Given the description of an element on the screen output the (x, y) to click on. 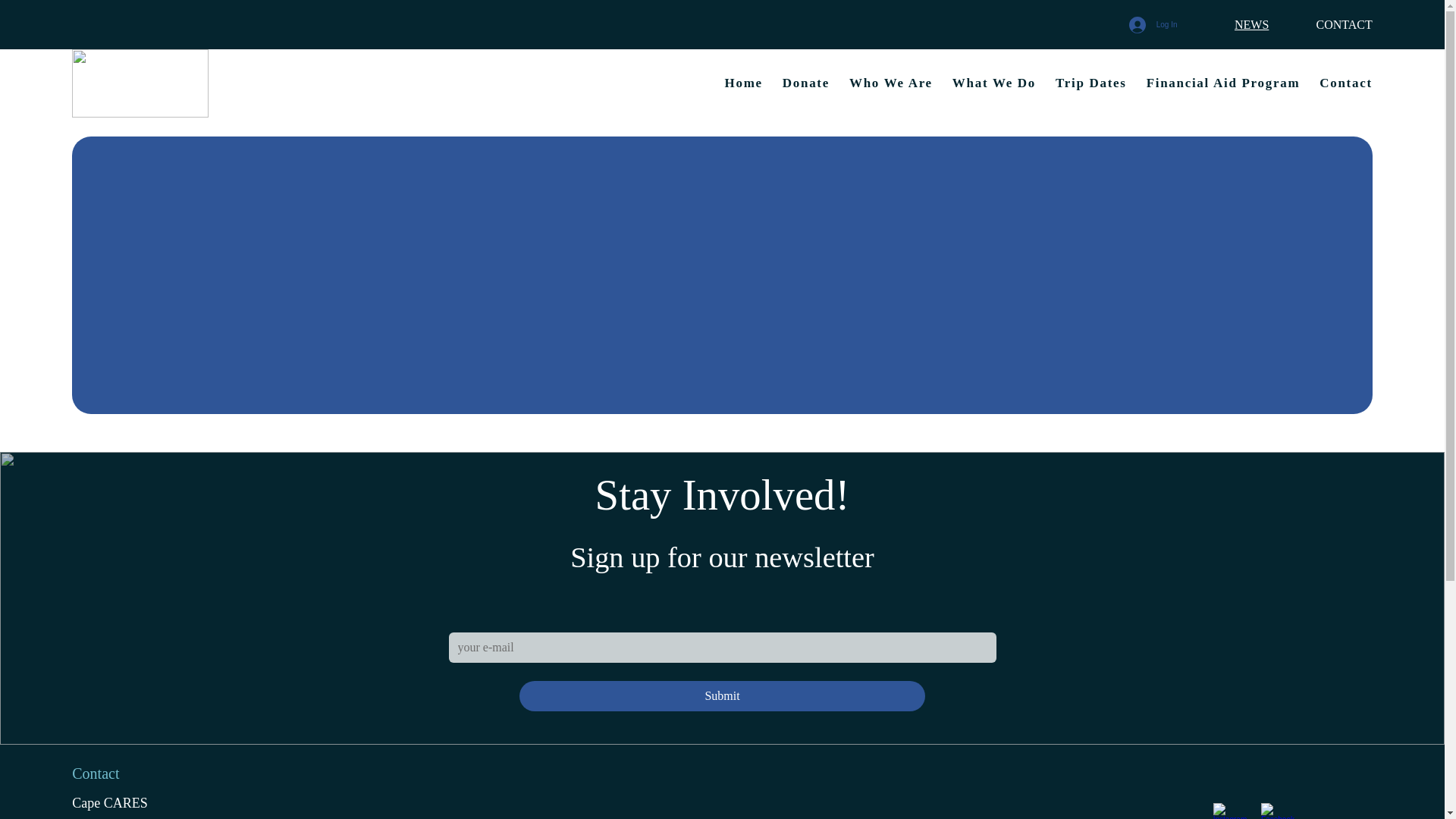
Contact (1346, 82)
Who We Are (890, 82)
NEWS (1251, 24)
What We Do (993, 82)
Donate (806, 82)
CONTACT (1343, 24)
Log In (1153, 24)
Home (743, 82)
Trip Dates (1090, 82)
Submit (722, 695)
Financial Aid Program (1223, 82)
